Given the description of an element on the screen output the (x, y) to click on. 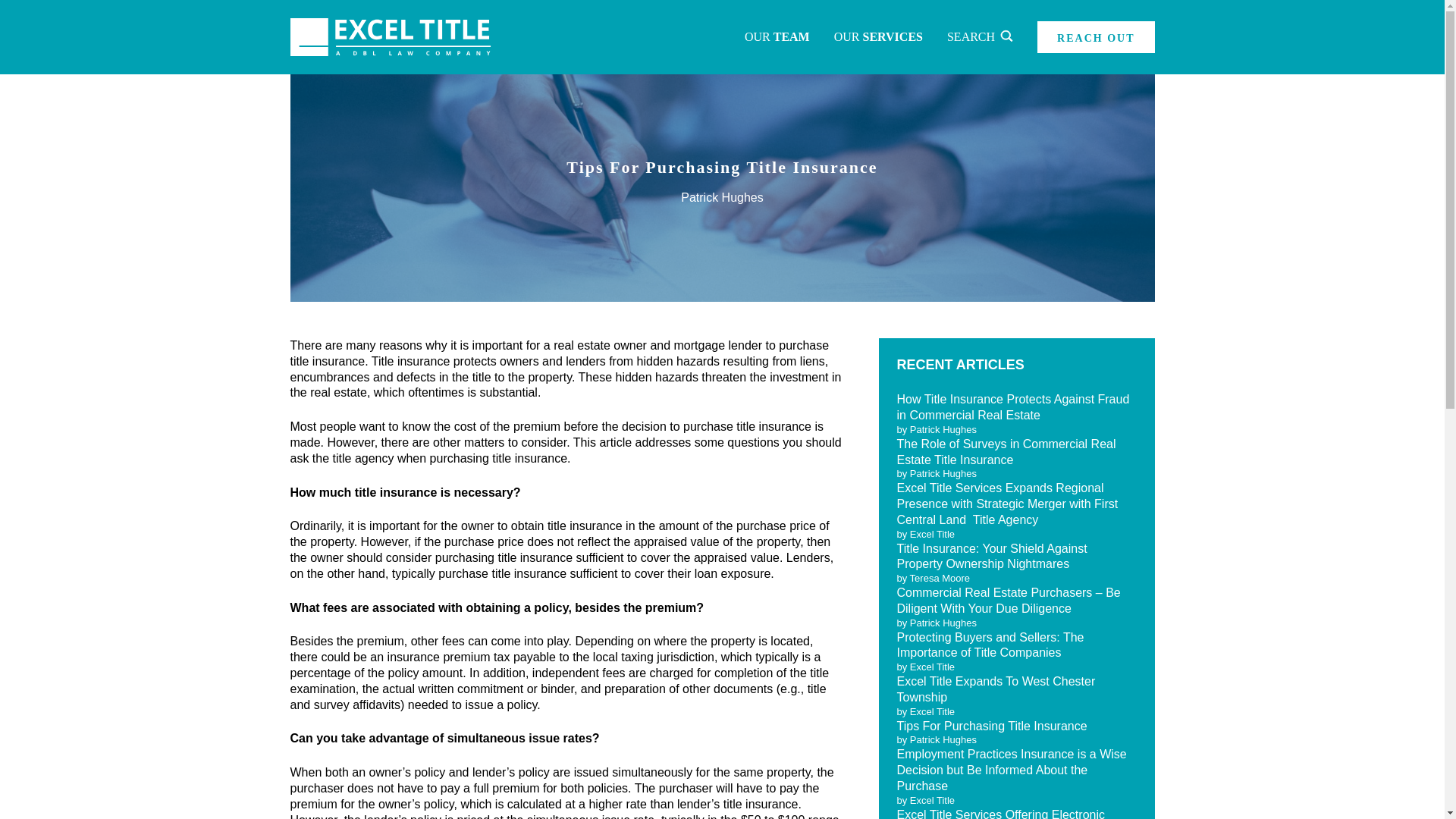
OUR TEAM (776, 37)
Patrick Hughes (721, 196)
OUR SERVICES (878, 37)
Excel Title Expands To West Chester Township (995, 688)
REACH OUT (1095, 37)
Tips For Purchasing Title Insurance (991, 725)
SEARCH (980, 37)
